Given the description of an element on the screen output the (x, y) to click on. 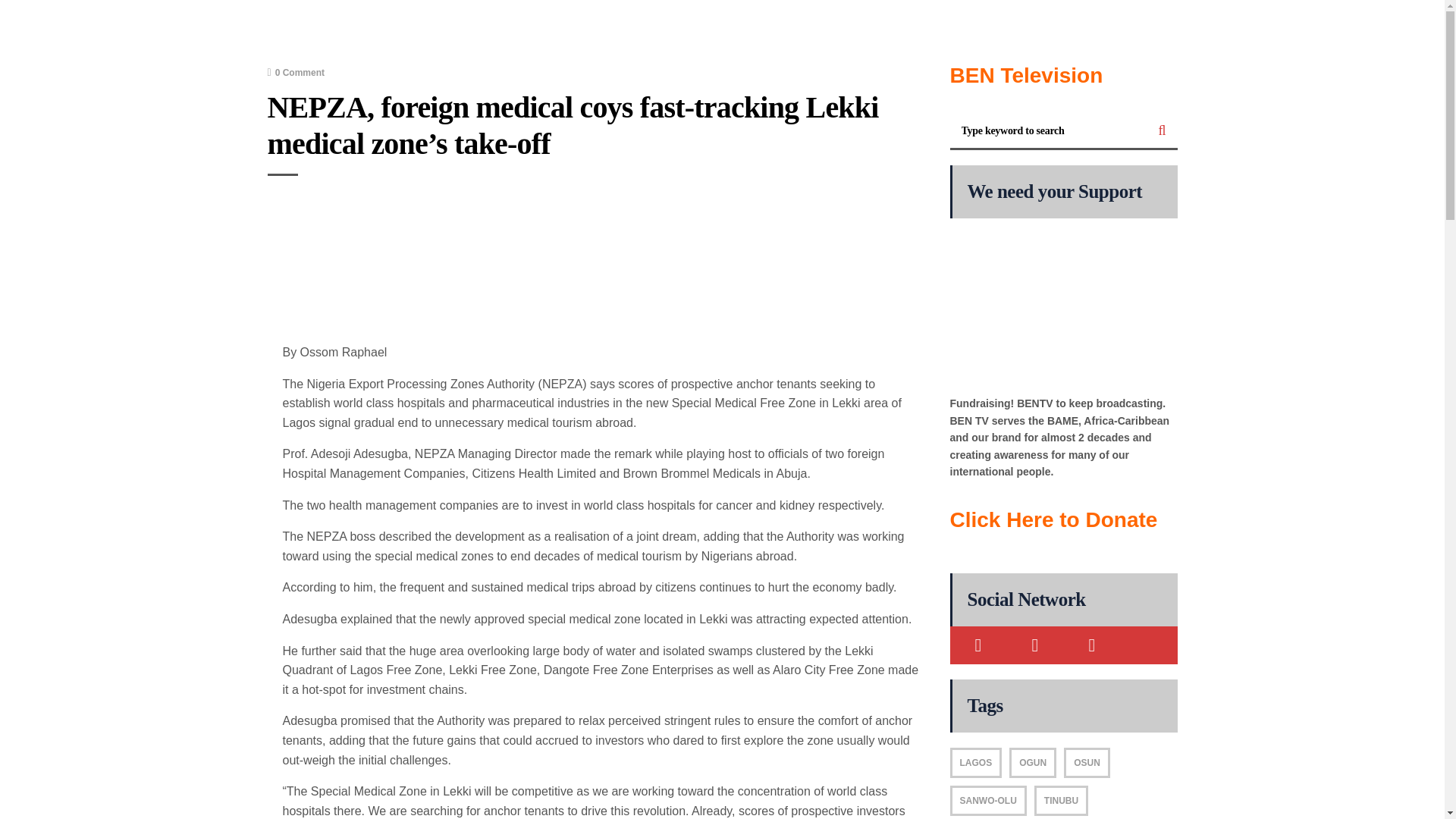
Type keyword to search (1048, 131)
Advertisement (600, 266)
Type keyword to search (1048, 131)
